Given the description of an element on the screen output the (x, y) to click on. 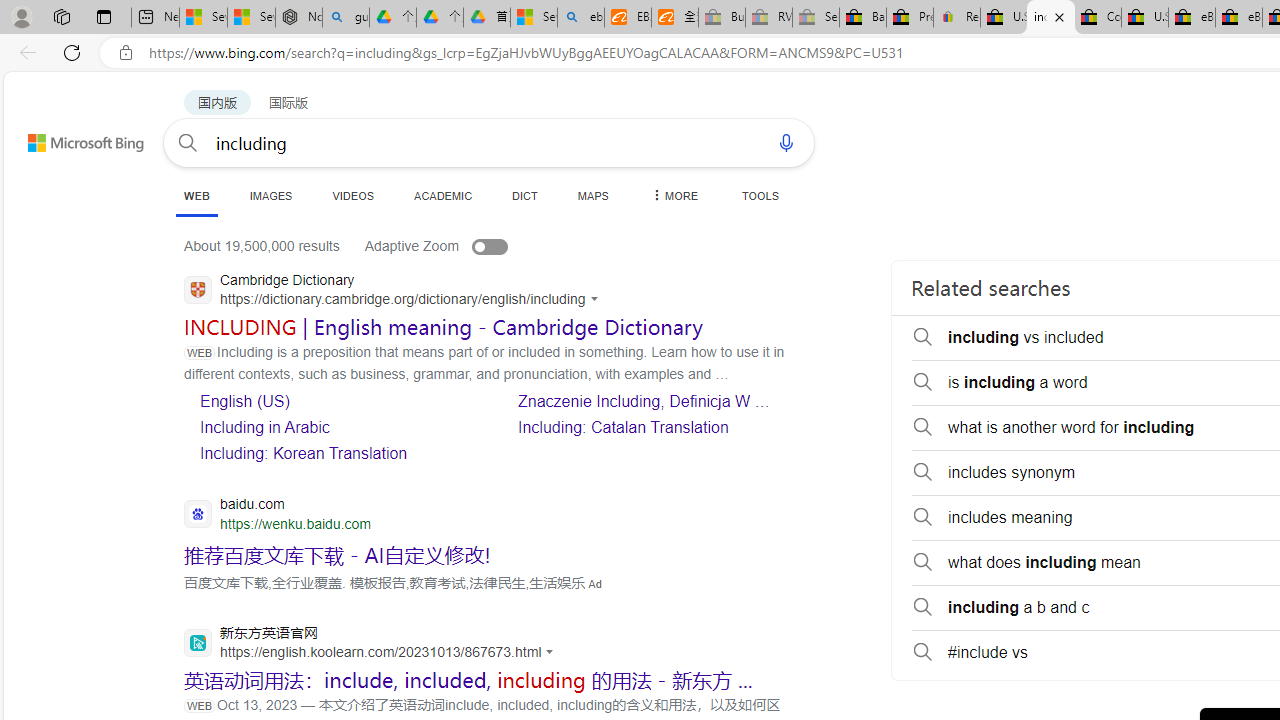
TOOLS (760, 195)
Search (187, 142)
Sell worldwide with eBay - Sleeping (815, 17)
Back to Bing search (73, 138)
Including in Arabic (336, 426)
Including: Korean Translation (303, 453)
Including: Catalan Translation (623, 427)
Search using voice (785, 142)
U.S. State Privacy Disclosures - eBay Inc. (1145, 17)
Including in Arabic (264, 427)
